Given the description of an element on the screen output the (x, y) to click on. 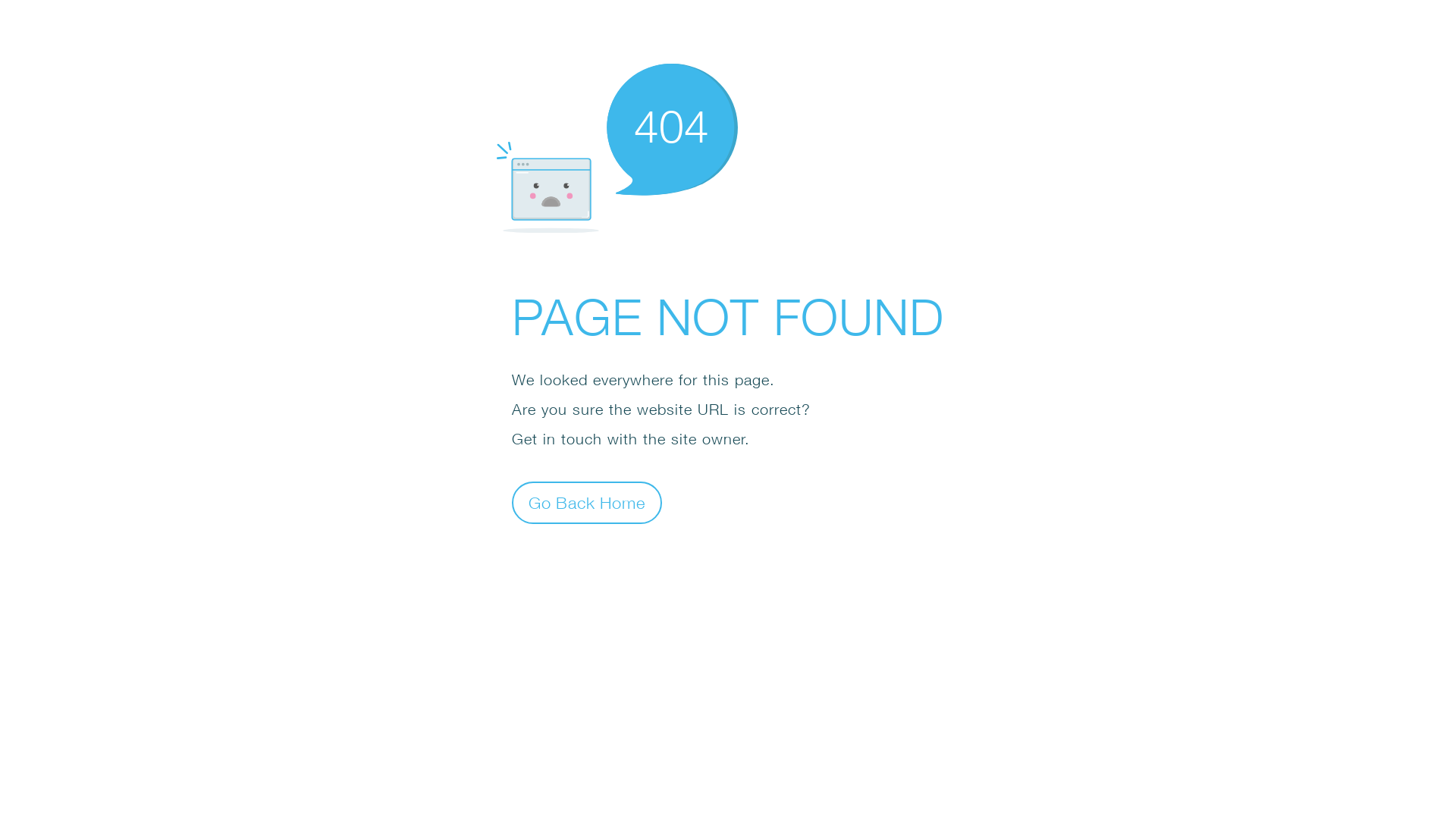
Go Back Home Element type: text (586, 502)
